Given the description of an element on the screen output the (x, y) to click on. 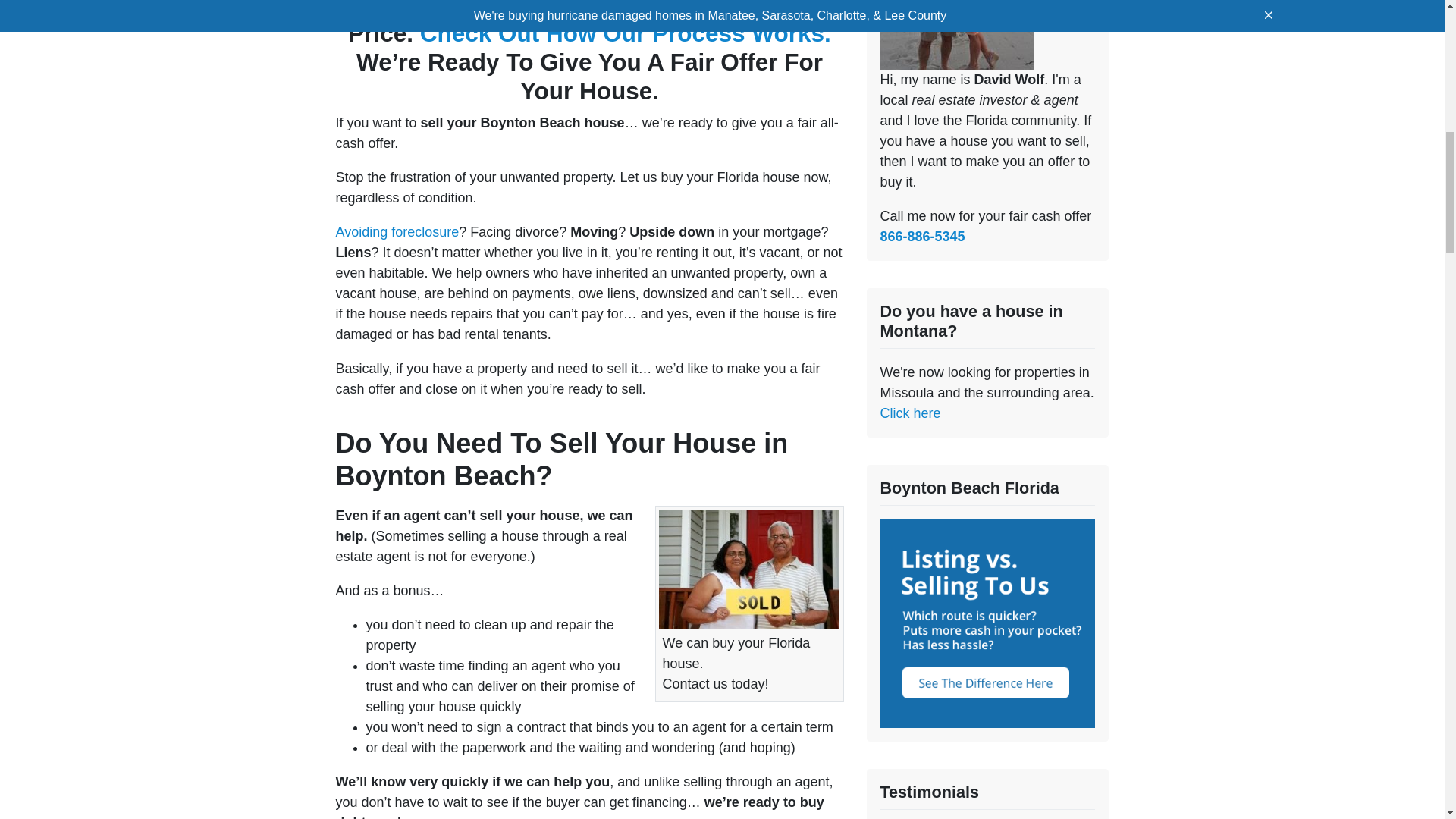
866-886-5345 (921, 236)
Click here (909, 412)
Avoiding foreclosure (396, 231)
Check Out How Our Process Works. (625, 32)
